Given the description of an element on the screen output the (x, y) to click on. 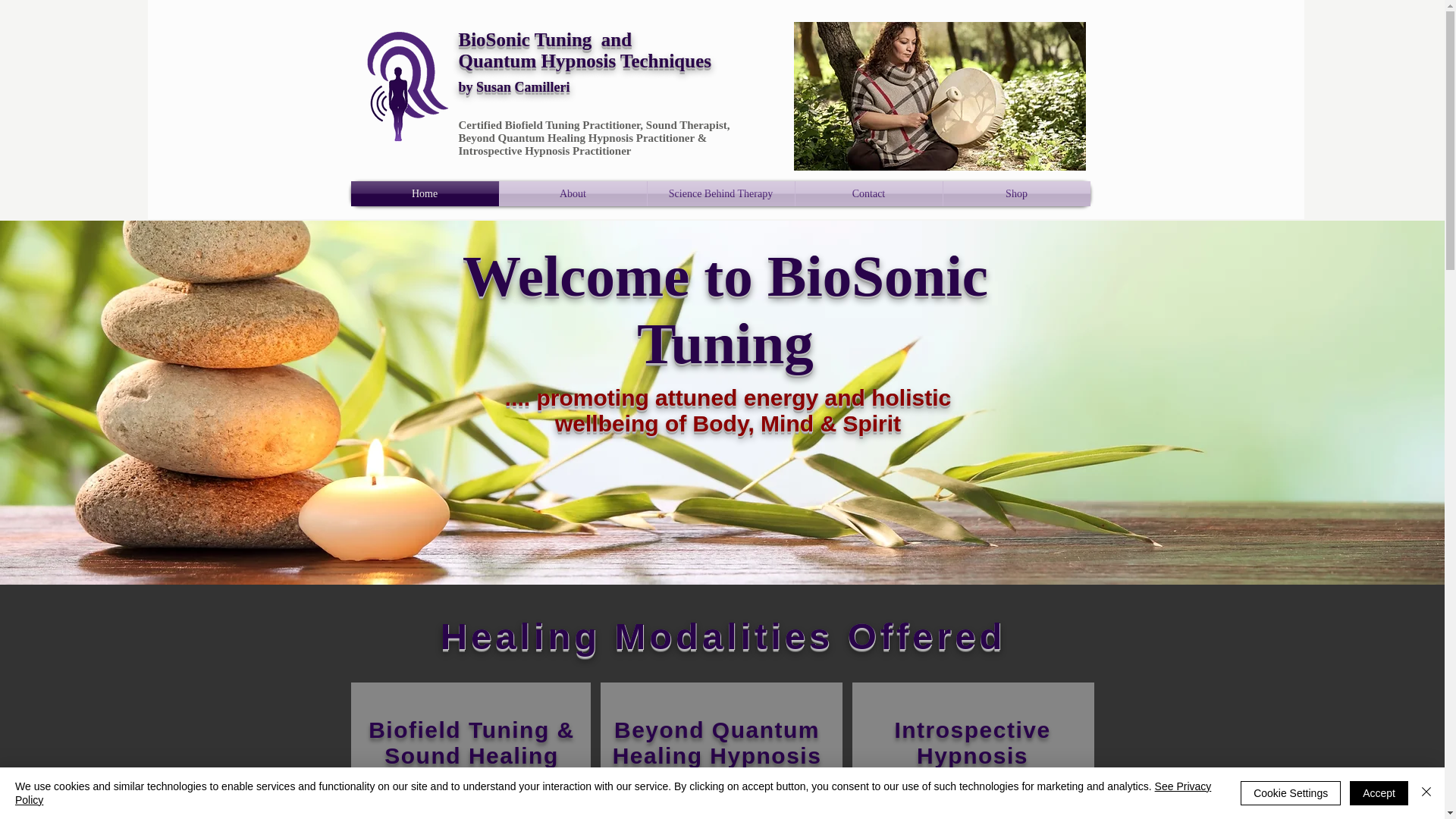
About (572, 193)
Contact (868, 193)
Accept (1378, 793)
Science Behind Therapy (720, 193)
Home (423, 193)
Shop (1016, 193)
Cookie Settings (1290, 793)
See Privacy Policy (612, 792)
